Given the description of an element on the screen output the (x, y) to click on. 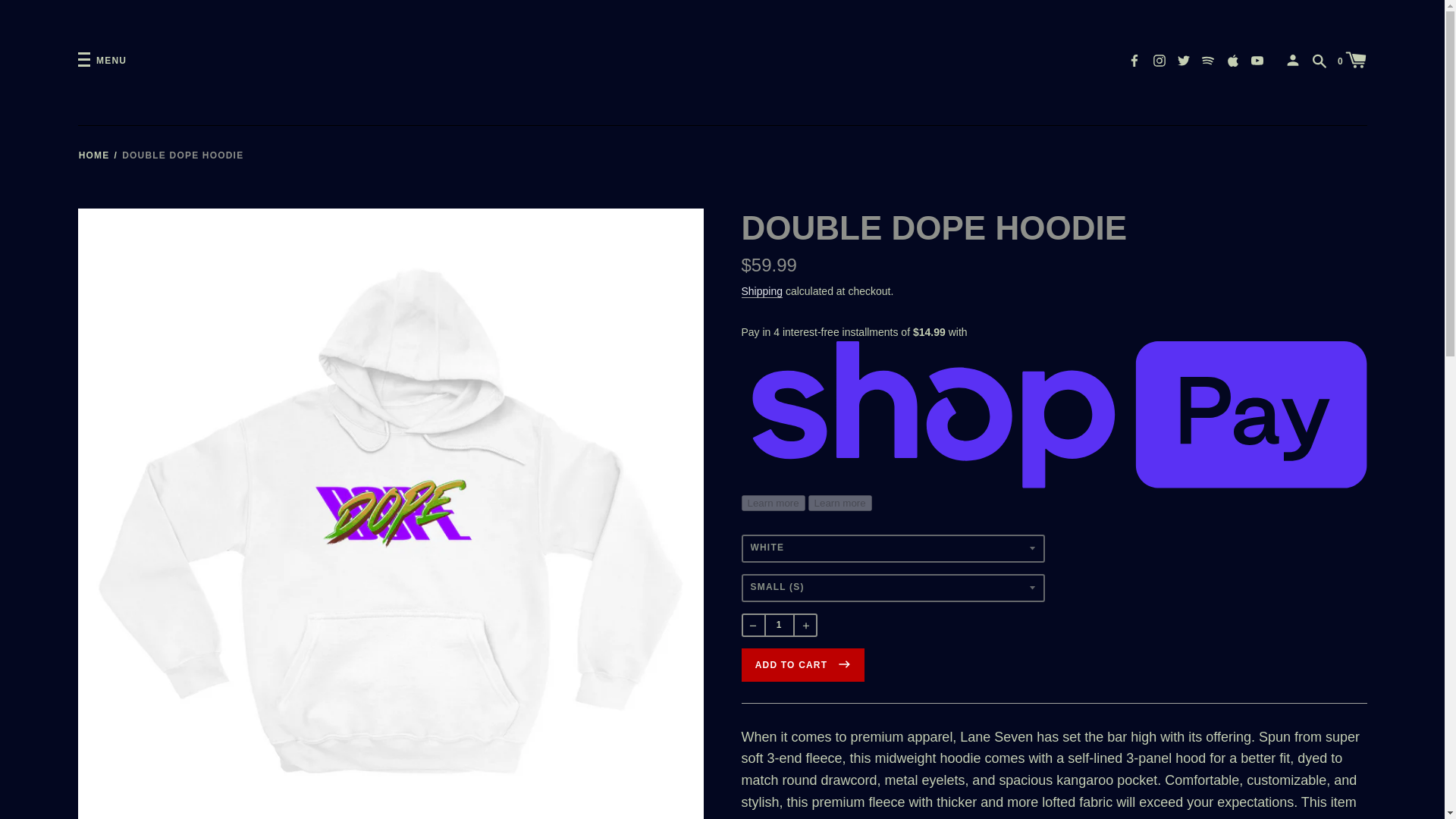
Dope Shop on YouTube (1256, 59)
Dope Shop on Twitter (1183, 59)
Dope Shop on Apple (1233, 59)
Dope Shop on Instagram (1159, 59)
Back to the frontpage (93, 155)
Dope Shop on Facebook (1134, 59)
MENU (101, 60)
Dope Shop on Spotify (1208, 59)
1 (778, 625)
